Given the description of an element on the screen output the (x, y) to click on. 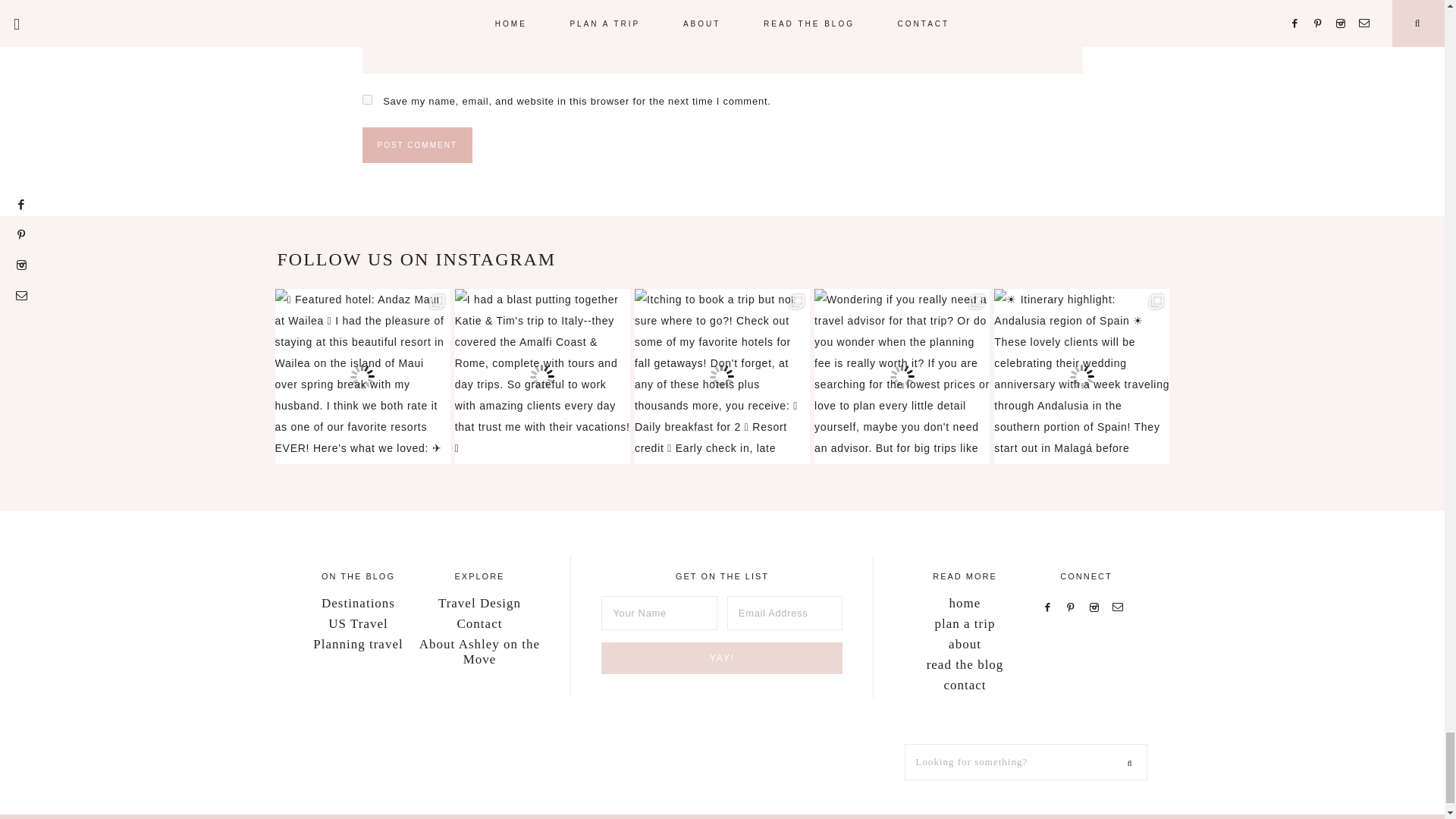
Post Comment (416, 144)
Yay! (722, 658)
yes (367, 99)
